Given the description of an element on the screen output the (x, y) to click on. 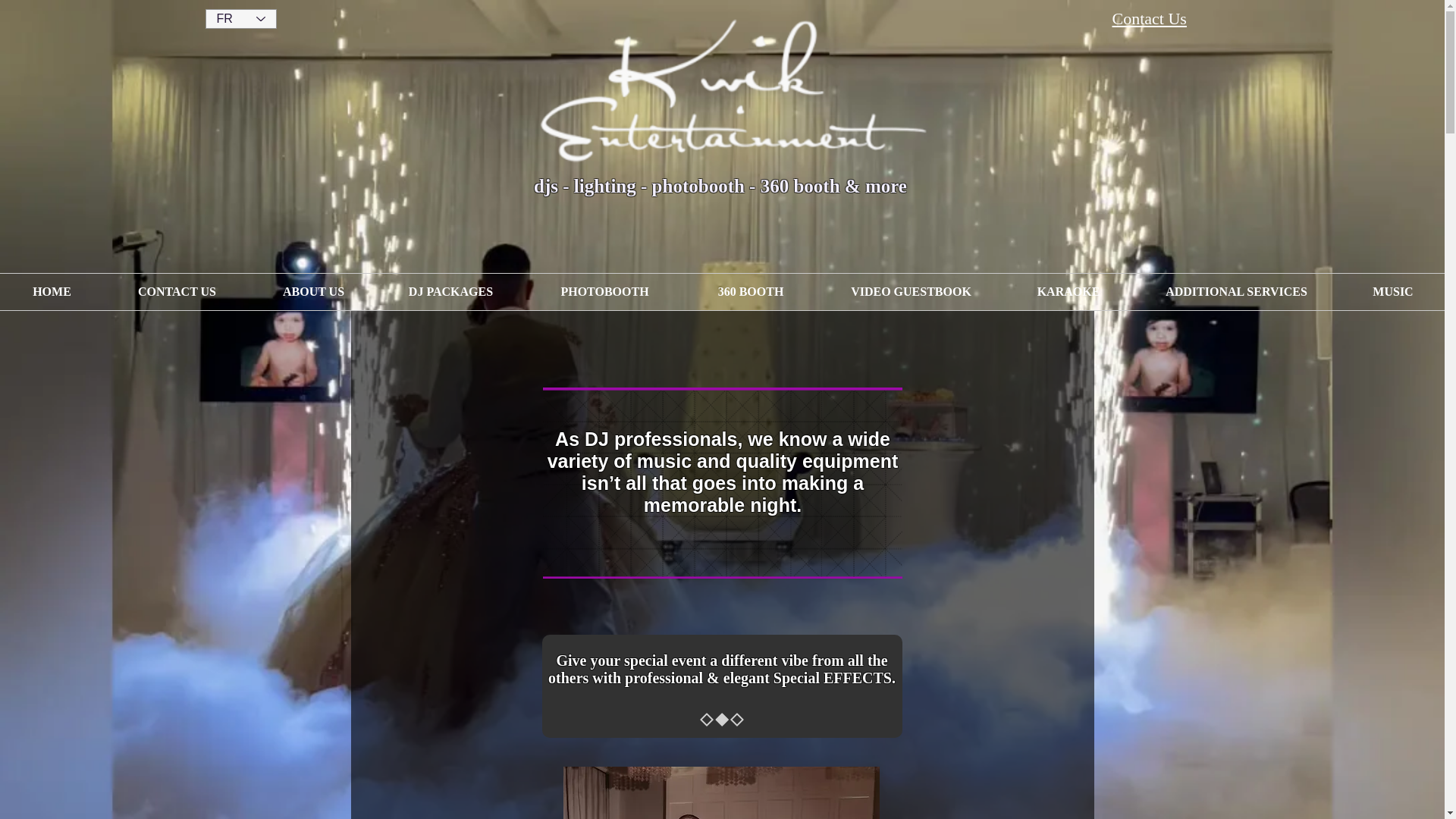
CONTACT US (176, 291)
PHOTOBOOTH (604, 291)
HOME (51, 291)
360 BOOTH (750, 291)
DJ PACKAGES (450, 291)
KARAOKE (1068, 291)
Contact Us (1149, 18)
VIDEO GUESTBOOK (911, 291)
ADDITIONAL SERVICES (1235, 291)
ABOUT US (313, 291)
